Given the description of an element on the screen output the (x, y) to click on. 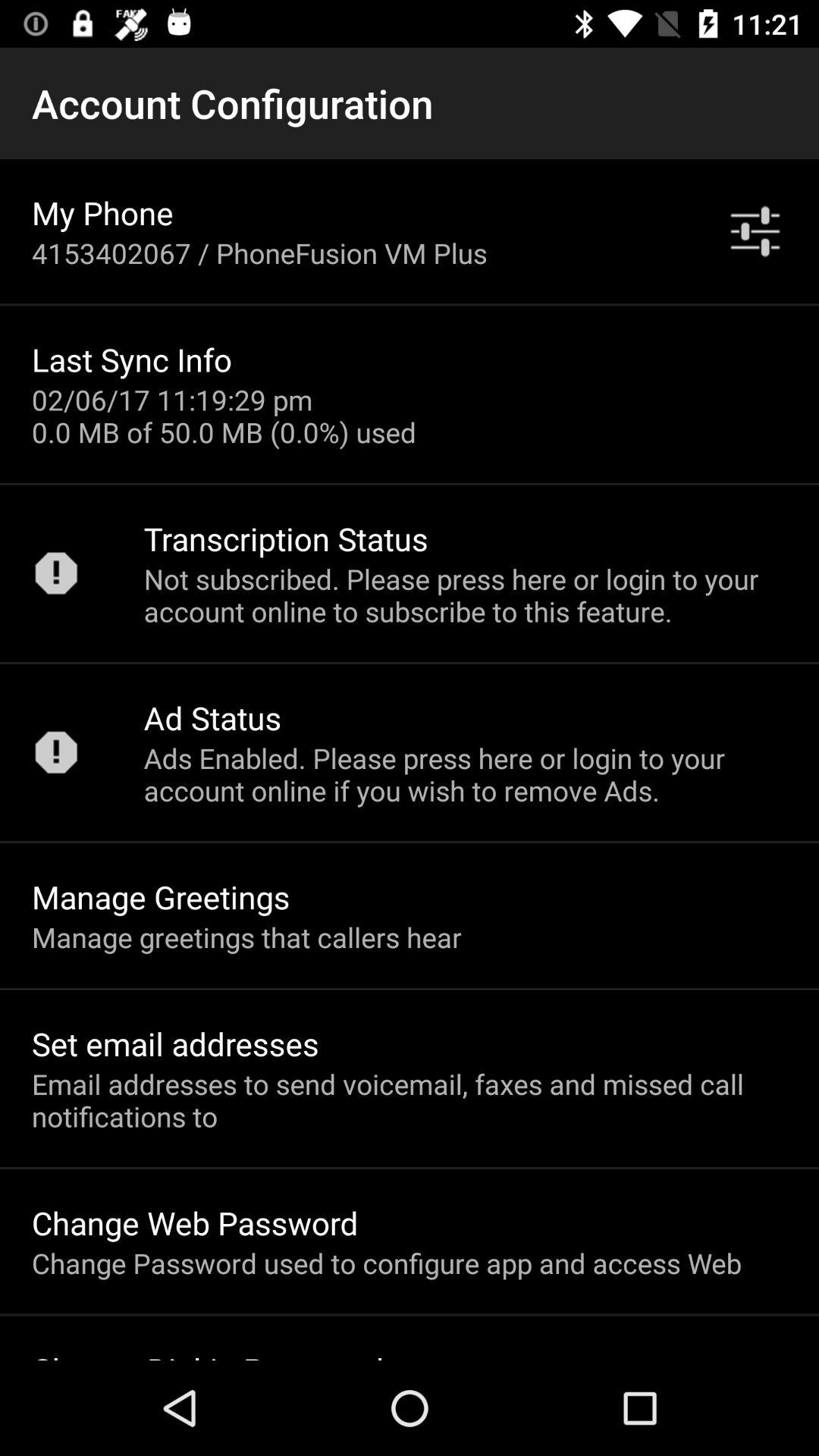
open the my phone (102, 212)
